Given the description of an element on the screen output the (x, y) to click on. 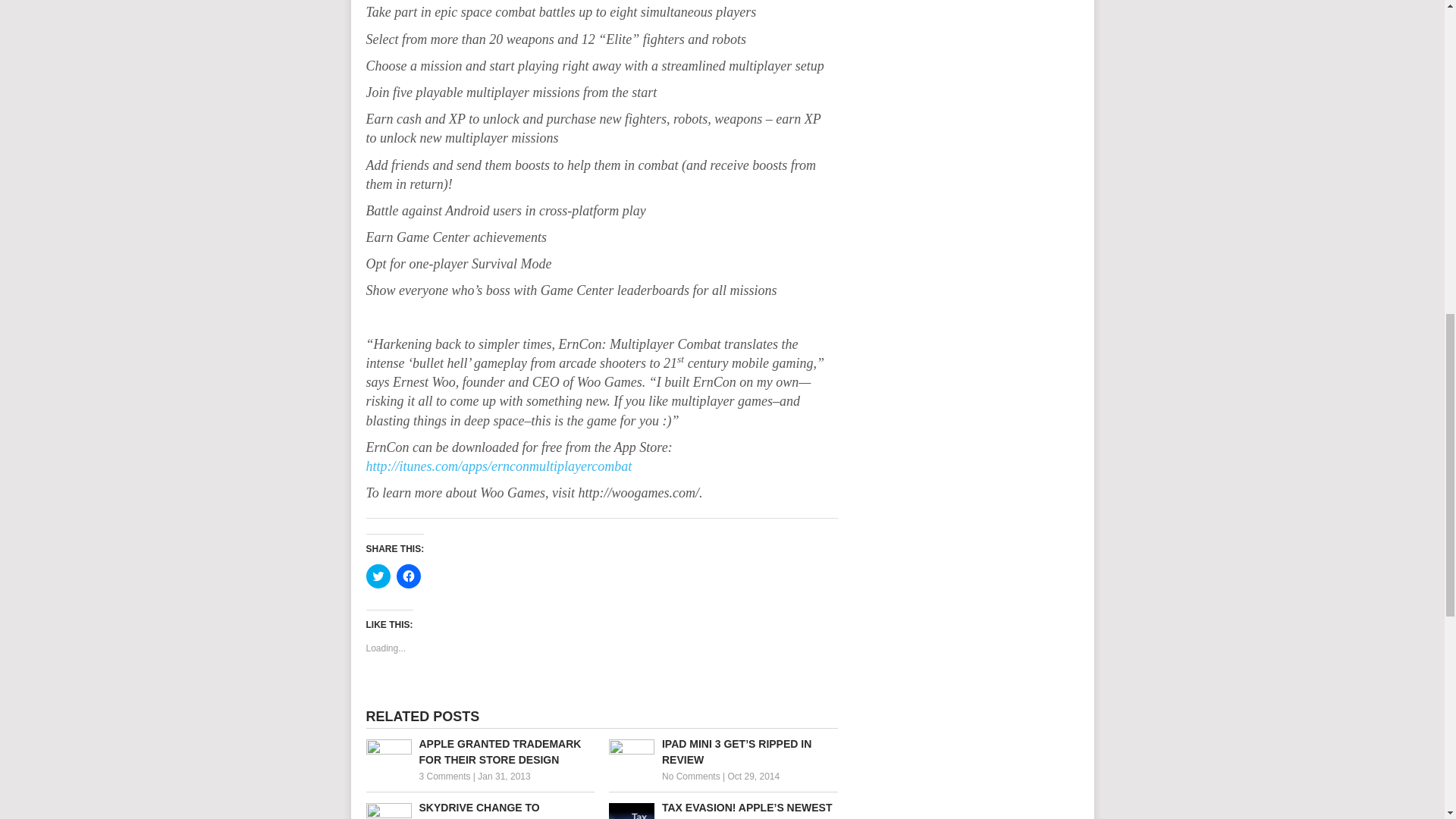
Click to share on Facebook (408, 576)
Click to share on Twitter (377, 576)
Apple Granted Trademark for Their Store Design (479, 752)
3 Comments (444, 776)
APPLE GRANTED TRADEMARK FOR THEIR STORE DESIGN (479, 752)
No Comments (691, 776)
